Given the description of an element on the screen output the (x, y) to click on. 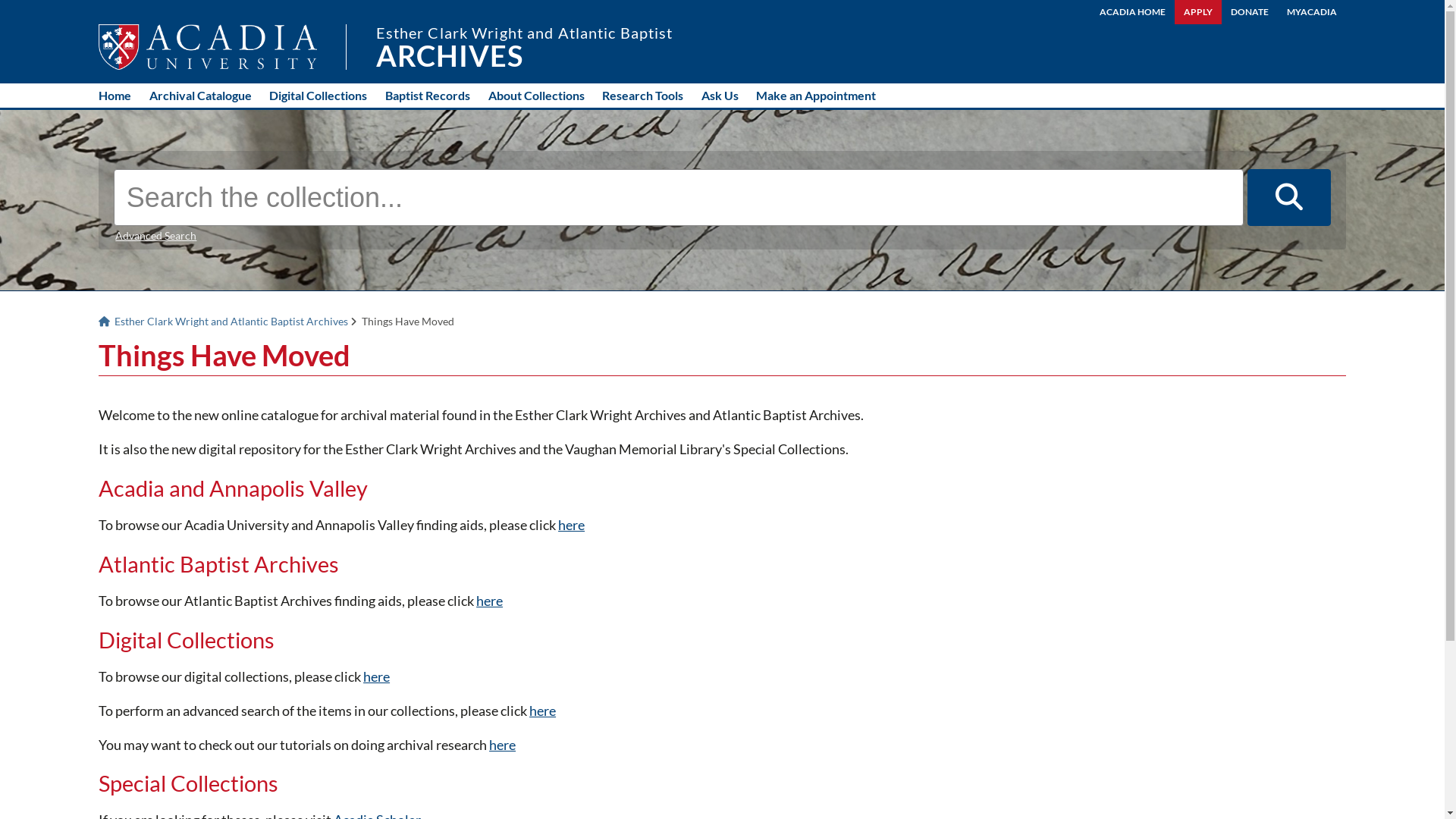
Skip to main content Element type: text (0, 0)
Advanced Search Element type: text (155, 235)
Research Tools Element type: text (642, 94)
Esther Clark Wright and Atlantic Baptist
ARCHIVES Element type: text (524, 47)
About Collections Element type: text (536, 94)
Home Element type: text (114, 94)
Digital Collections Element type: text (318, 94)
here Element type: text (571, 524)
Search Element type: hover (1288, 197)
Make an Appointment Element type: text (815, 94)
APPLY Element type: text (1197, 12)
here Element type: text (502, 744)
ACADIA HOME Element type: text (1132, 12)
Baptist Records Element type: text (427, 94)
MYACADIA Element type: text (1311, 12)
here Element type: text (542, 710)
Ask Us Element type: text (719, 94)
Archival Catalogue Element type: text (200, 94)
Esther Clark Wright and Atlantic Baptist Archives Element type: text (224, 321)
here Element type: text (376, 676)
here Element type: text (489, 600)
DONATE Element type: text (1249, 12)
